Given the description of an element on the screen output the (x, y) to click on. 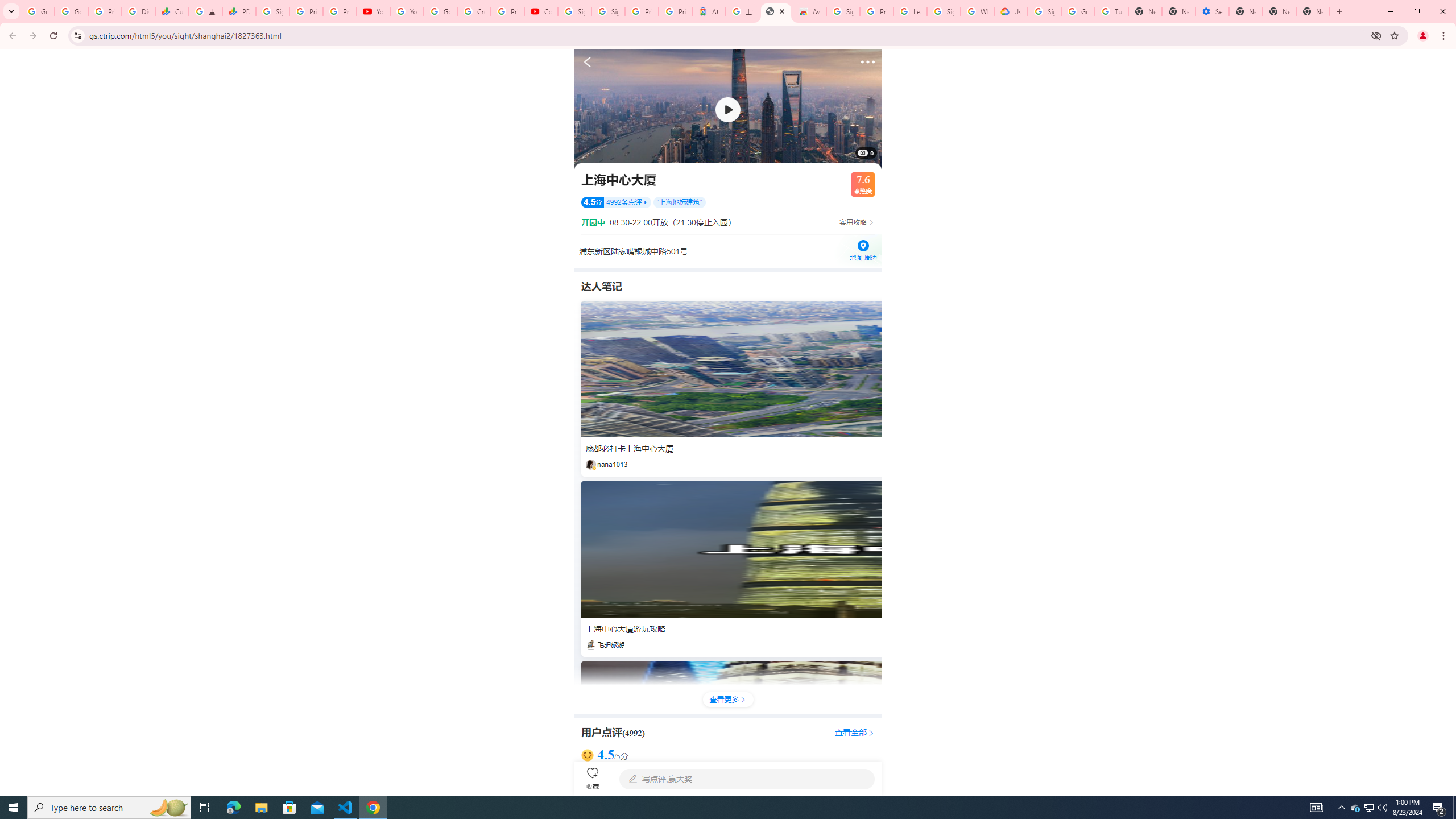
YouTube (372, 11)
Sign in - Google Accounts (943, 11)
Turn cookies on or off - Computer - Google Account Help (1111, 11)
Currencies - Google Finance (171, 11)
